Given the description of an element on the screen output the (x, y) to click on. 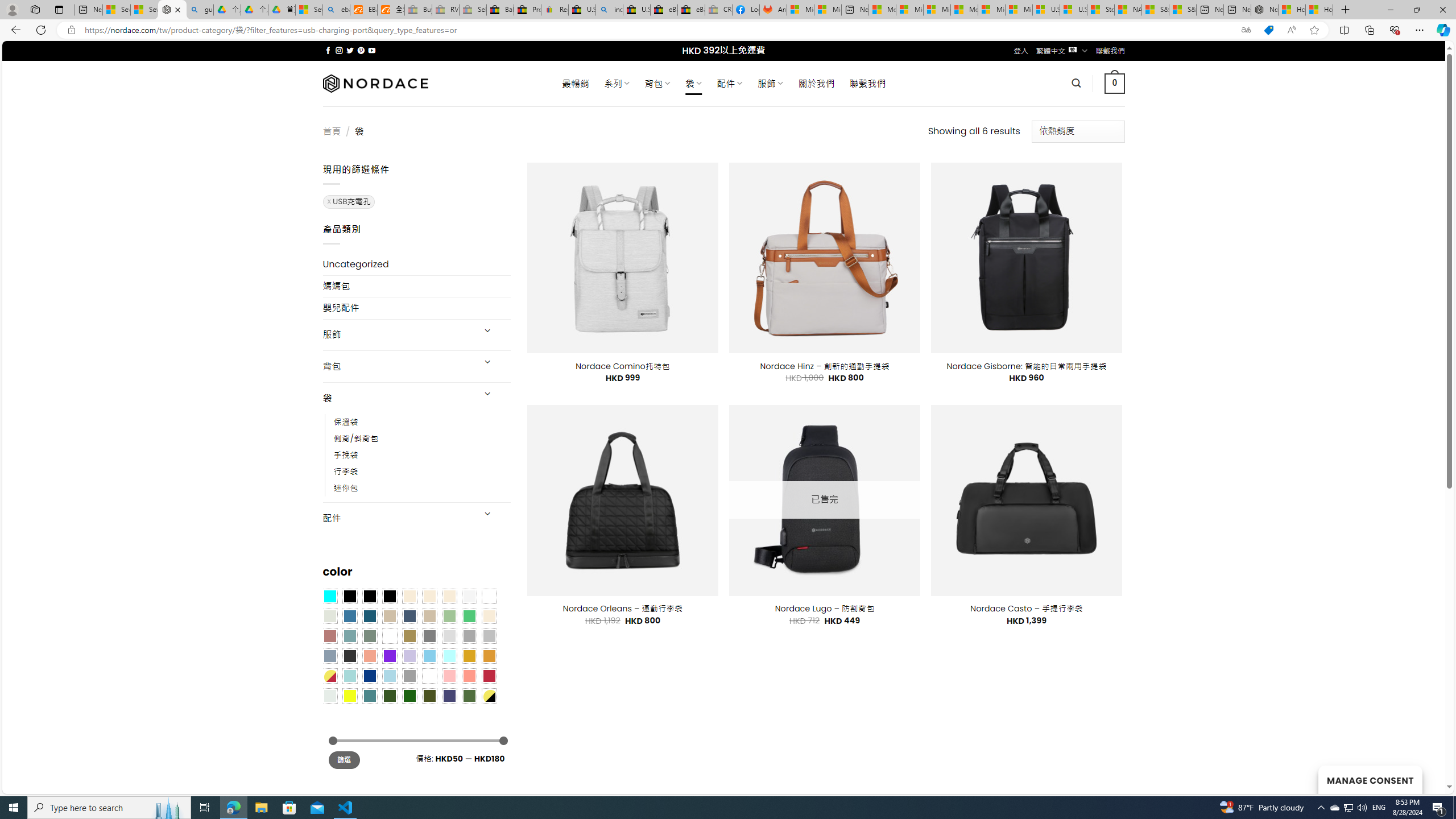
Uncategorized (416, 264)
Microsoft account | Home (936, 9)
